Given the description of an element on the screen output the (x, y) to click on. 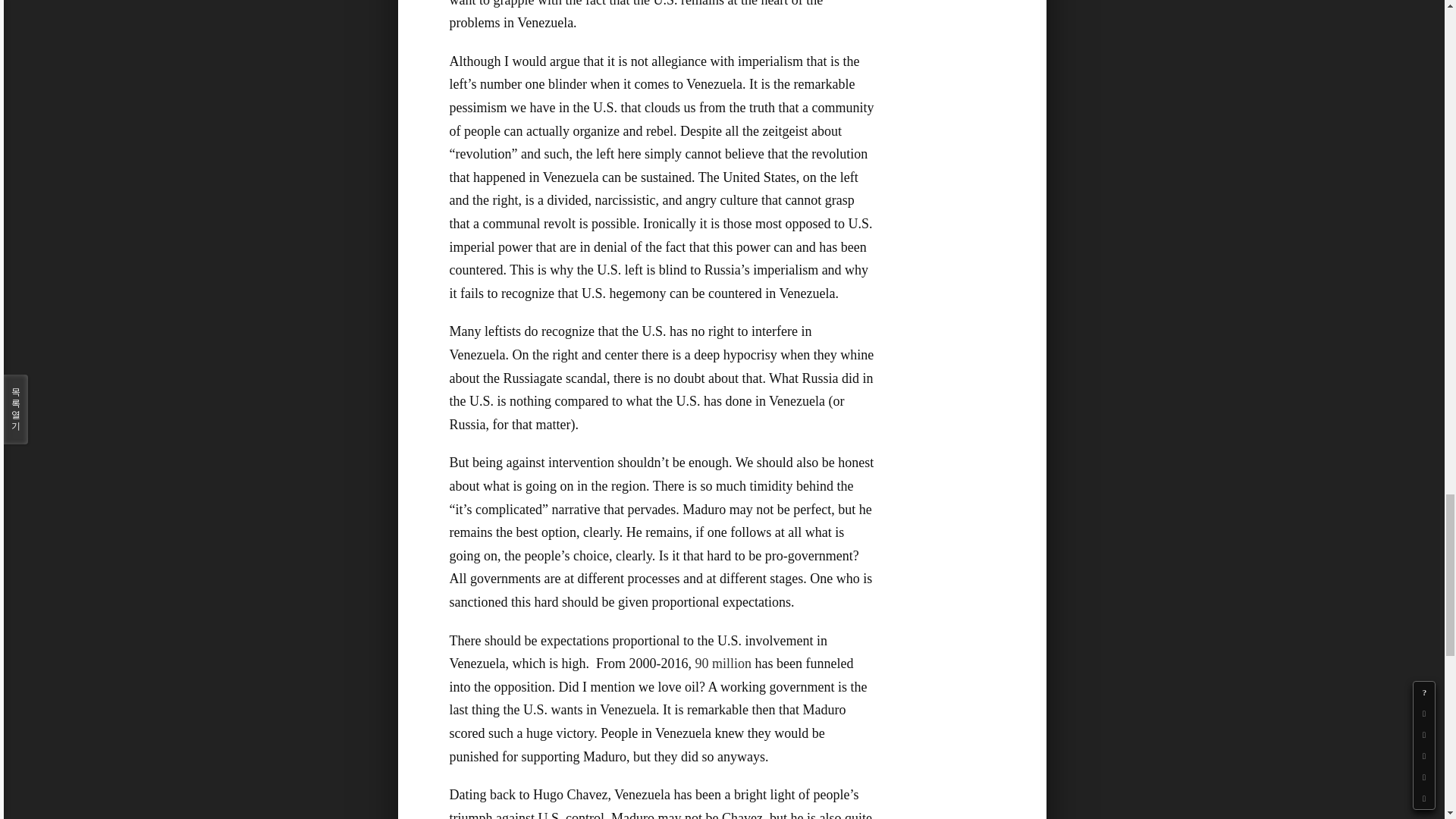
90 million (722, 663)
